Given the description of an element on the screen output the (x, y) to click on. 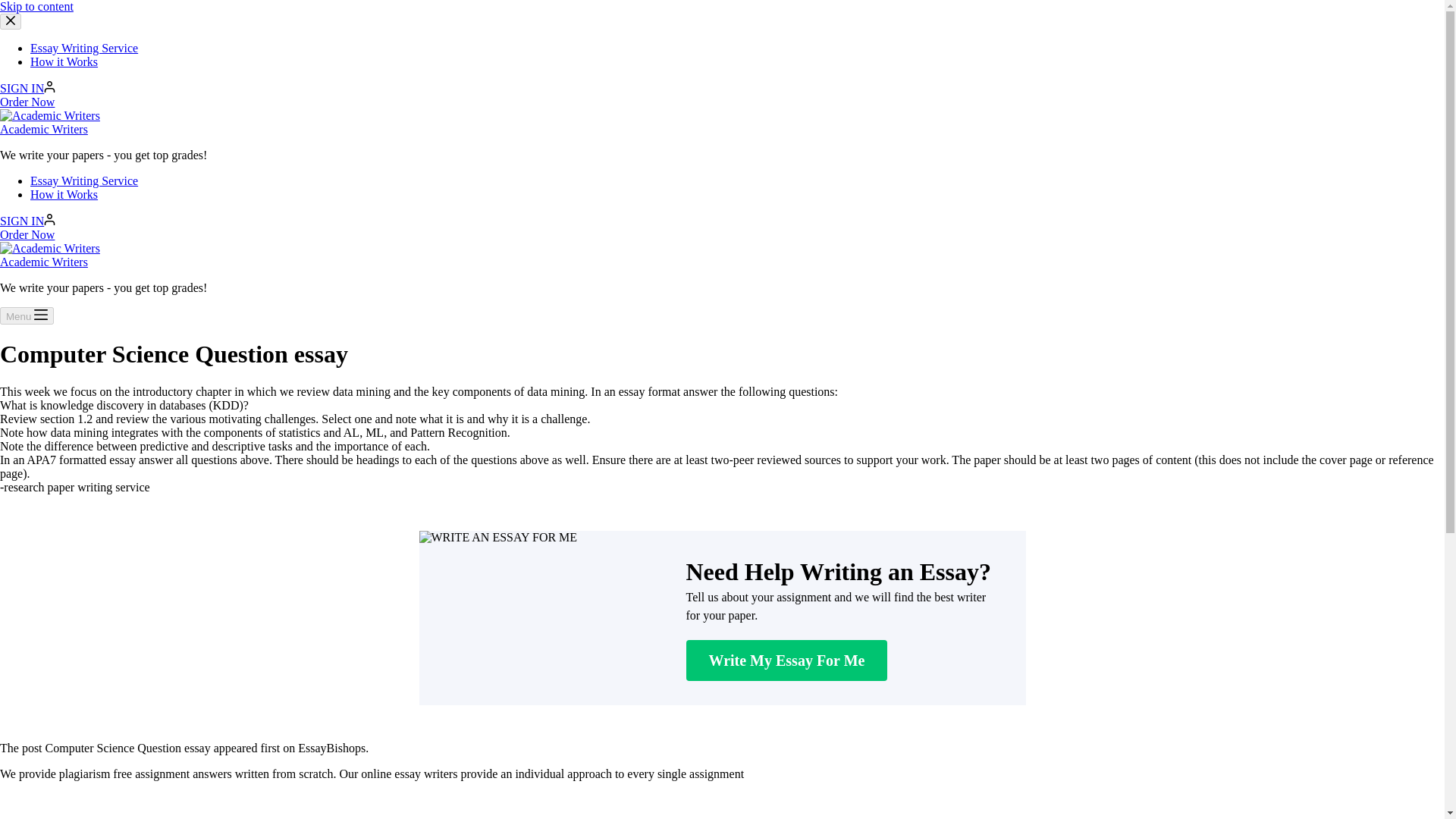
Menu (26, 315)
Academic Writers (43, 261)
SIGN IN (27, 88)
Order Now (27, 234)
Order Now (27, 101)
How it Works (63, 61)
How it Works (63, 194)
Essay Writing Service (84, 180)
SIGN IN (27, 220)
Write My Essay For Me (785, 659)
